Given the description of an element on the screen output the (x, y) to click on. 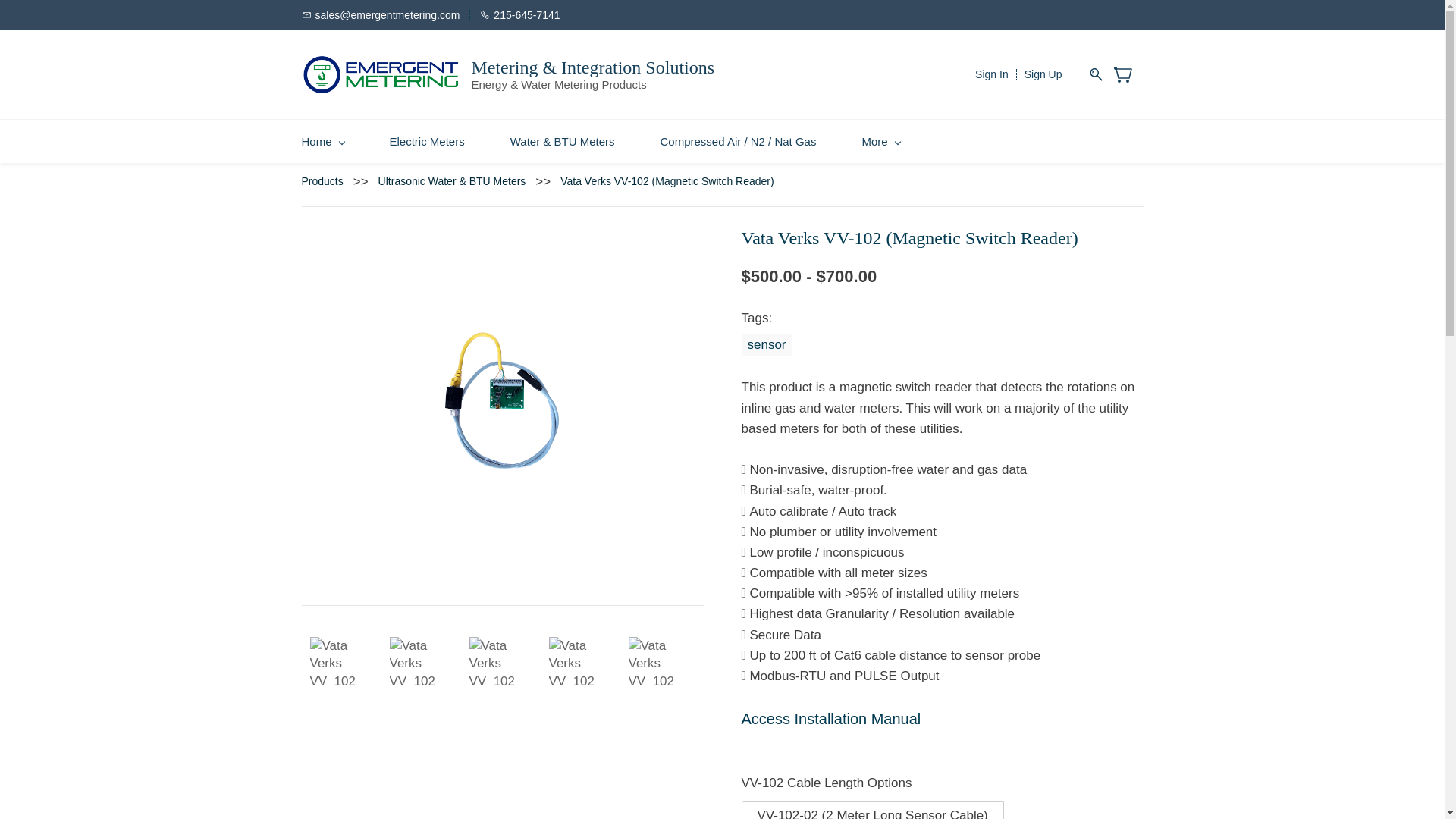
Access Installation Manual (831, 718)
Sign Up (1043, 73)
Access Installation Manual (831, 718)
Sign In (992, 73)
Electric Meters (427, 140)
215-645-7141 (519, 14)
Home (322, 140)
Products (327, 182)
sensor (766, 344)
